Given the description of an element on the screen output the (x, y) to click on. 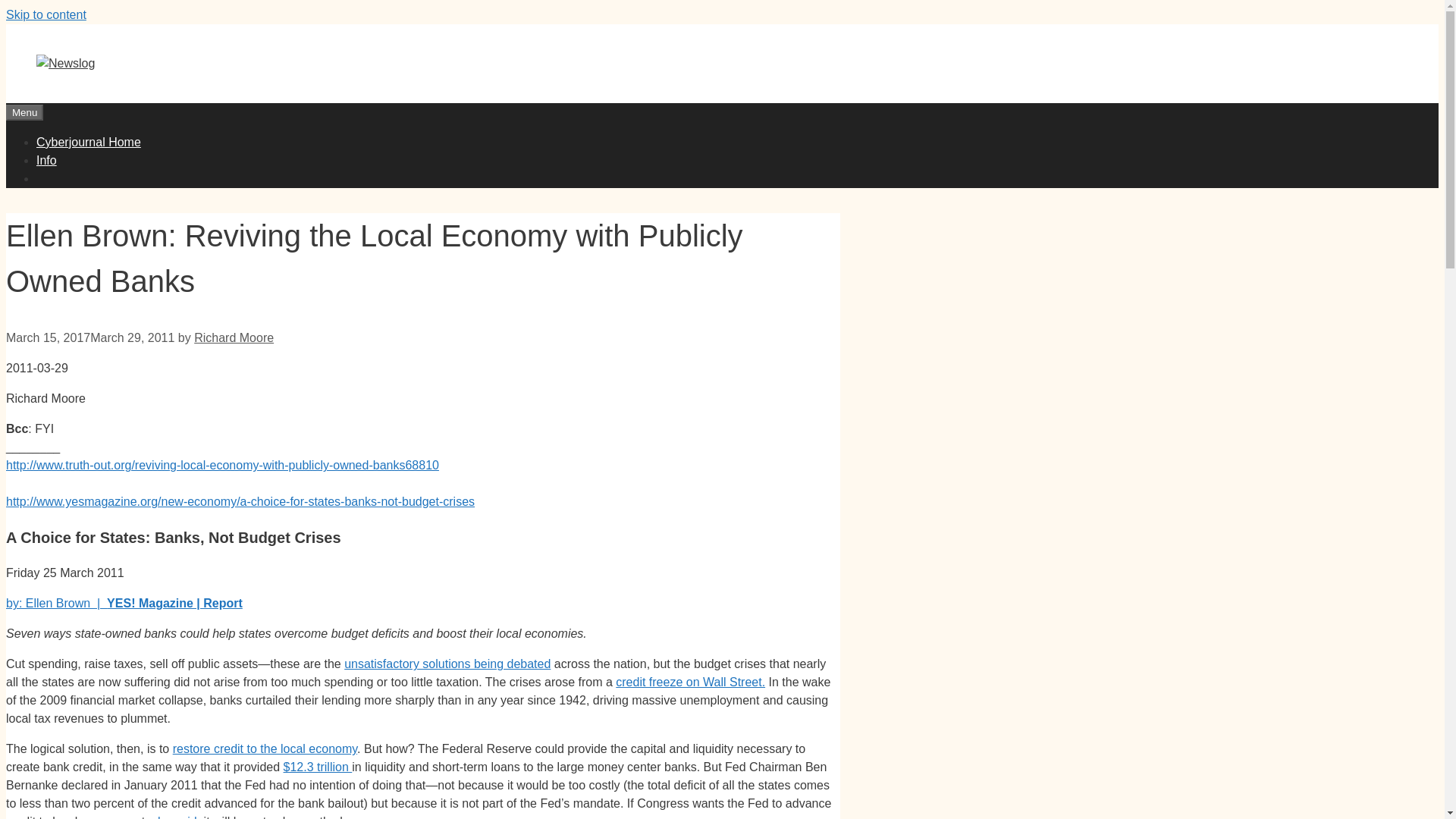
Skip to content (45, 14)
Skip to content (45, 14)
 he said (175, 816)
Richard Moore (233, 337)
restore credit to the local economy (264, 748)
View all posts by Richard Moore (233, 337)
Menu (24, 112)
Info (46, 160)
unsatisfactory solutions being debated (446, 663)
Cyberjournal Home (88, 141)
